Given the description of an element on the screen output the (x, y) to click on. 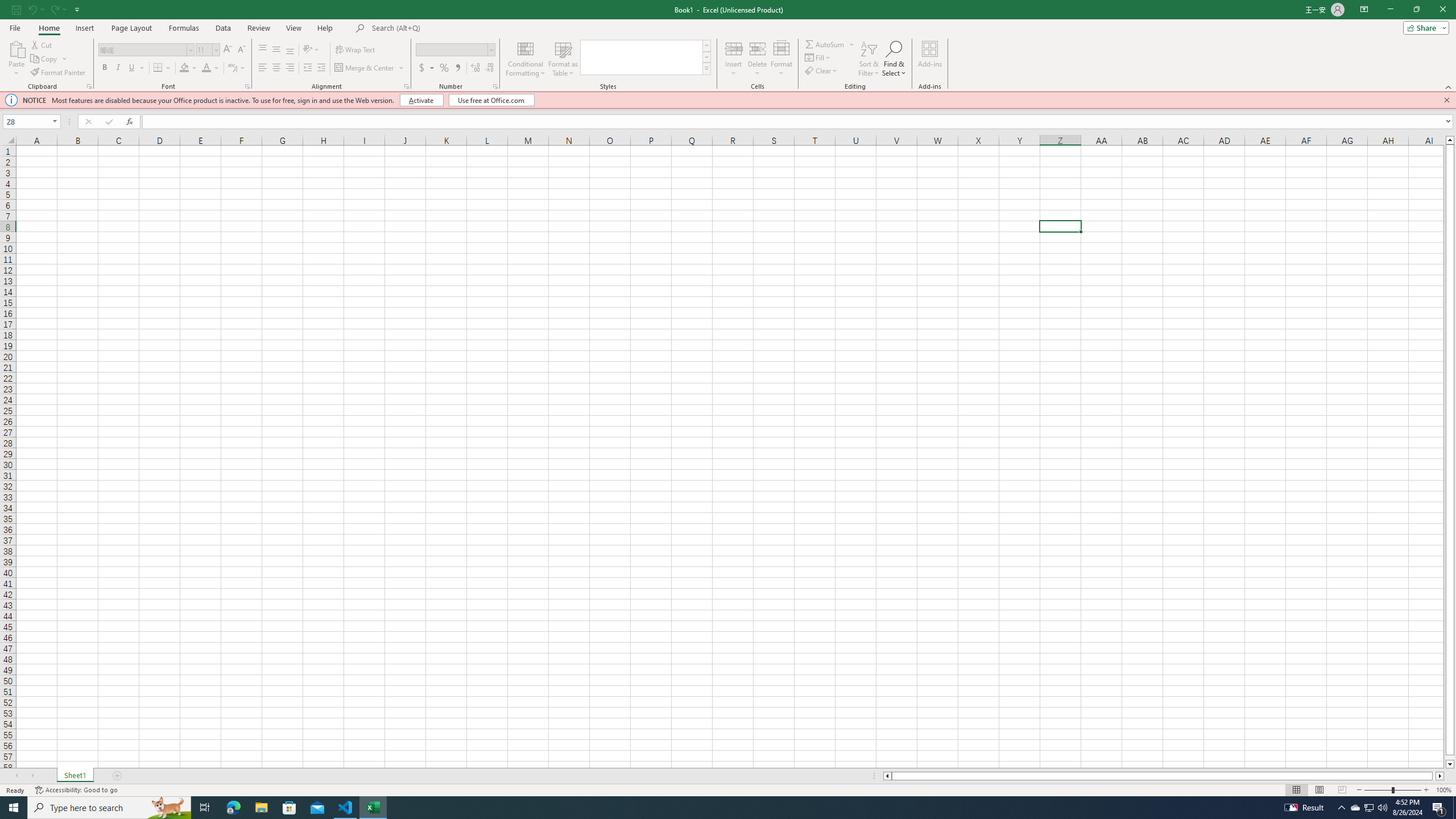
Use free at Office.com (491, 100)
Format Cell Font (247, 85)
Close this message (1446, 99)
Find & Select (893, 58)
